Given the description of an element on the screen output the (x, y) to click on. 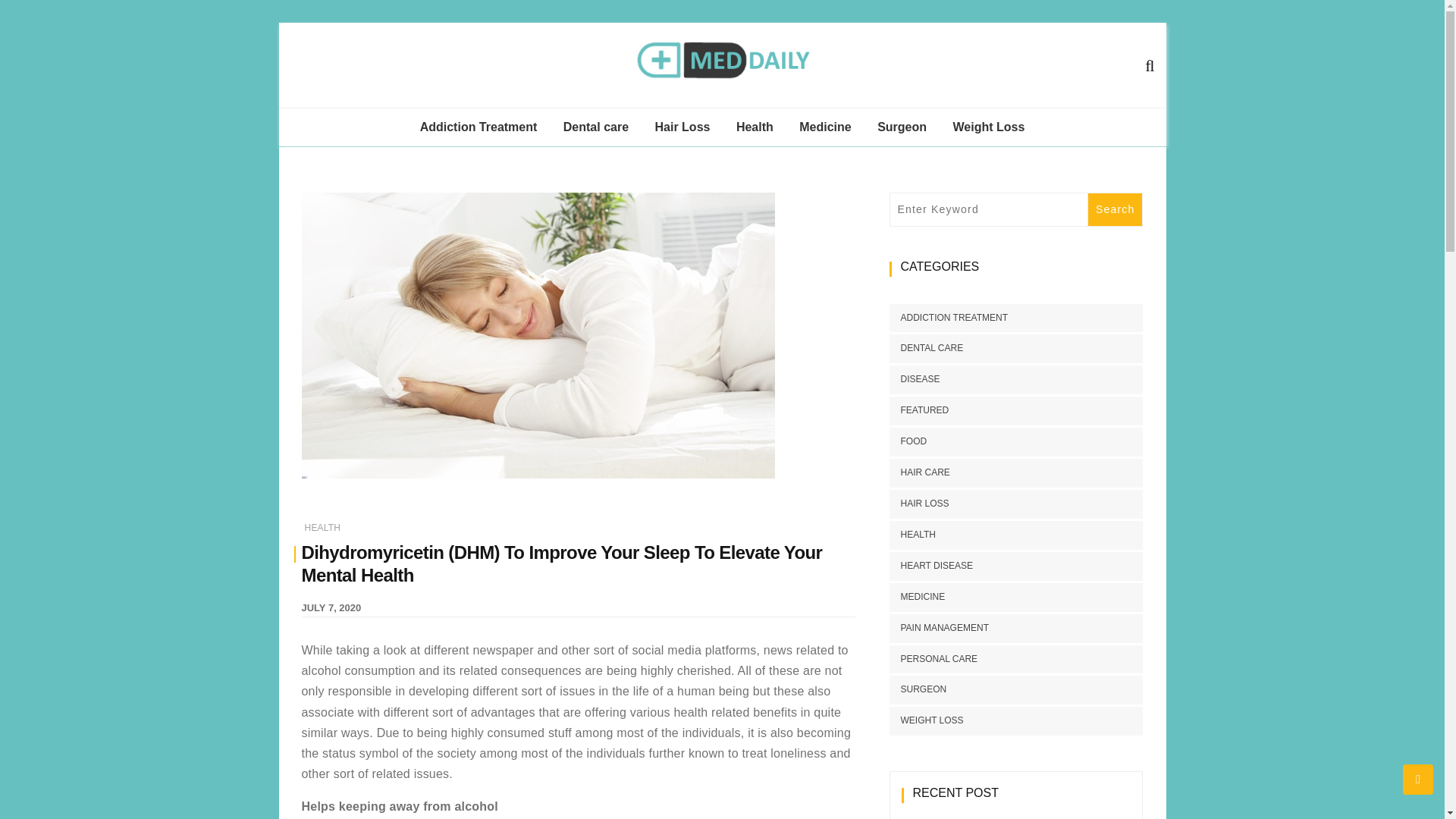
Med Daily (786, 105)
JULY 7, 2020 (331, 607)
Addiction Treatment (478, 127)
FEATURED (918, 410)
Search (1114, 209)
FOOD (907, 441)
HEALTH (322, 527)
Dental care (595, 127)
Disease (819, 163)
Heart Disease (819, 197)
